Given the description of an element on the screen output the (x, y) to click on. 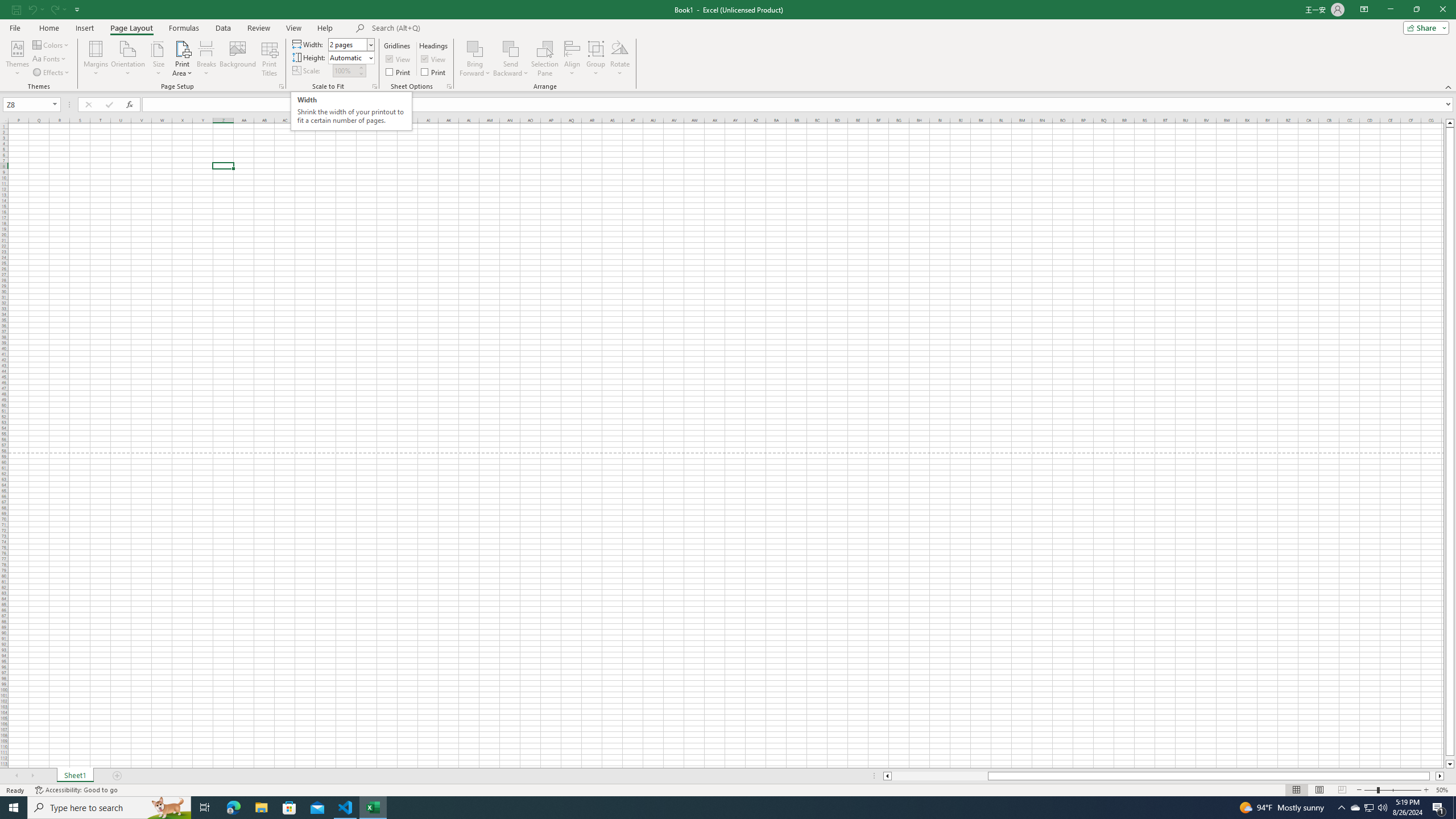
Scale (344, 70)
Page down (1449, 757)
Close (1442, 9)
Group (595, 58)
Data (223, 28)
Add Sheet (117, 775)
Send Backward (510, 48)
Name Box (30, 104)
Minimize (1390, 9)
Accessibility Checker Accessibility: Good to go (76, 790)
Class: NetUIScrollBar (1163, 775)
Themes (17, 58)
Column left (886, 775)
Collapse the Ribbon (1448, 86)
System (6, 6)
